Given the description of an element on the screen output the (x, y) to click on. 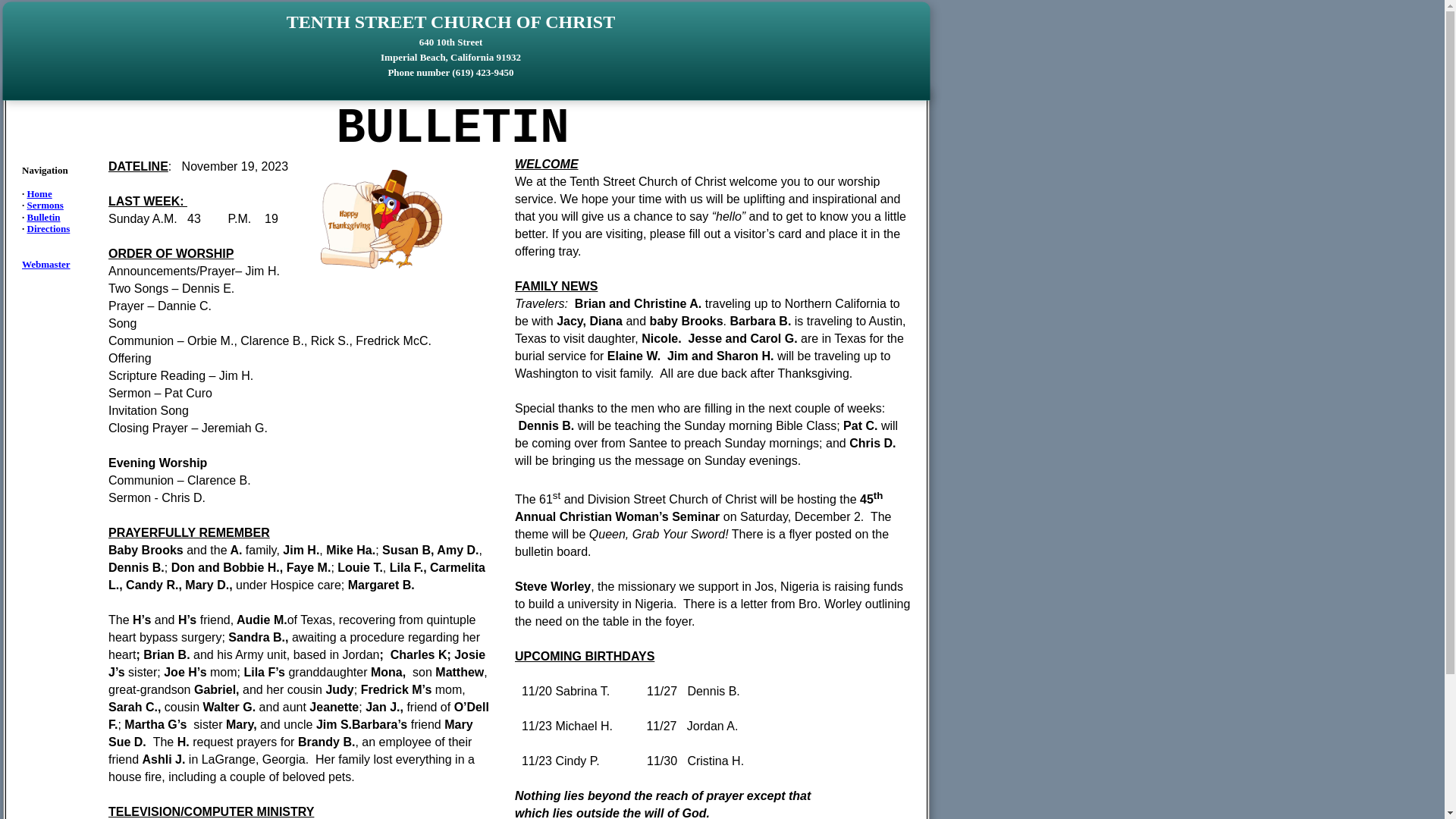
Home Element type: text (39, 193)
Directions Element type: text (48, 228)
Sermons Element type: text (45, 204)
Bulletin Element type: text (43, 216)
Webmaster Element type: text (45, 263)
